Given the description of an element on the screen output the (x, y) to click on. 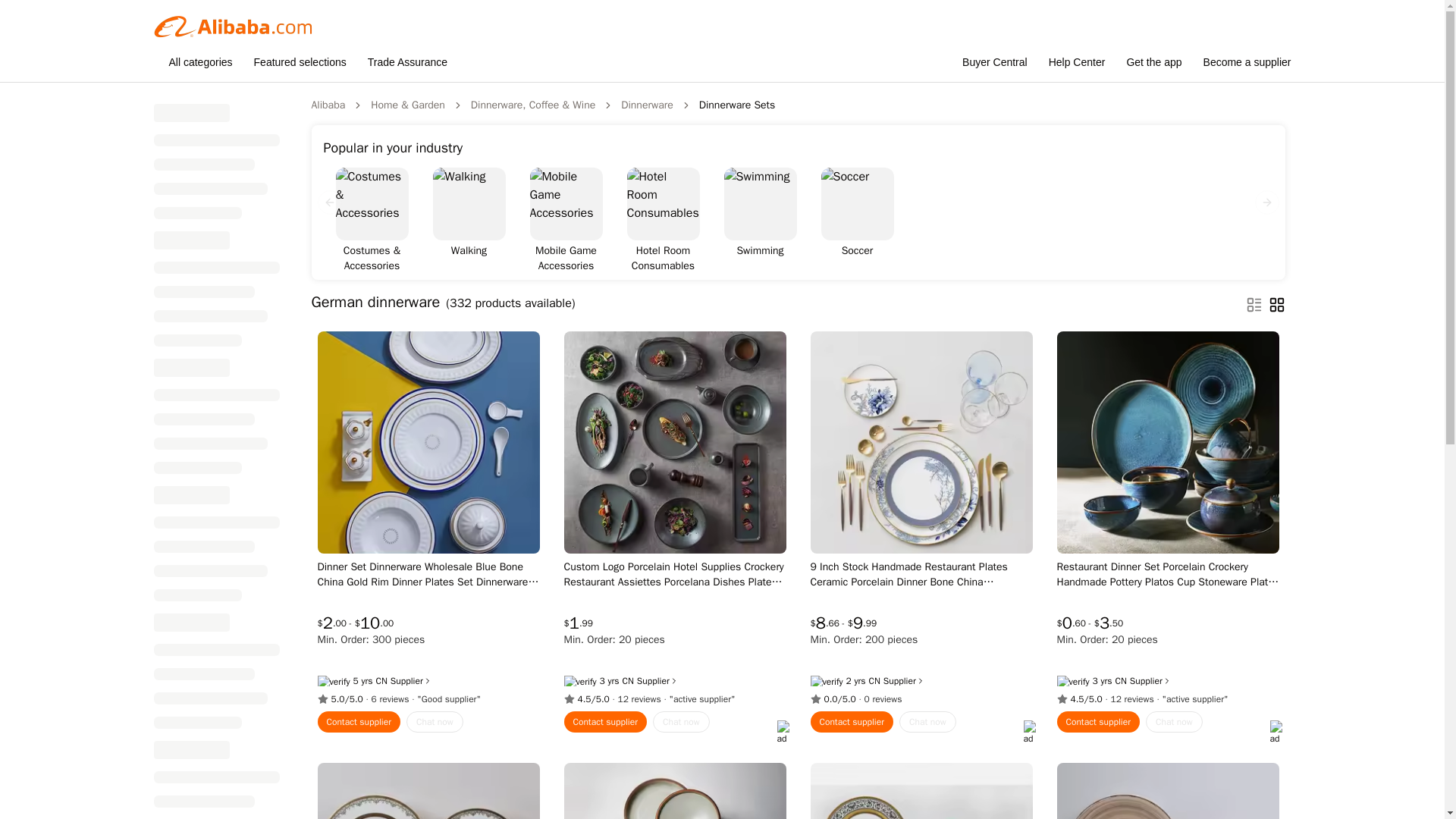
Chat now (434, 721)
Supplier (903, 680)
Previous slide (328, 202)
Contact supplier (358, 721)
Supplier (657, 680)
Shanxi Jiahui Ceramics Technology Co. Ltd. (874, 680)
Contact supplier (605, 721)
Chat now (681, 721)
Supplier (411, 680)
Guangzhou Jiujiuju Homeware Supplies Co., Ltd. (627, 680)
Dinnerware (646, 105)
Alibaba (328, 105)
Next slide (1265, 202)
